Given the description of an element on the screen output the (x, y) to click on. 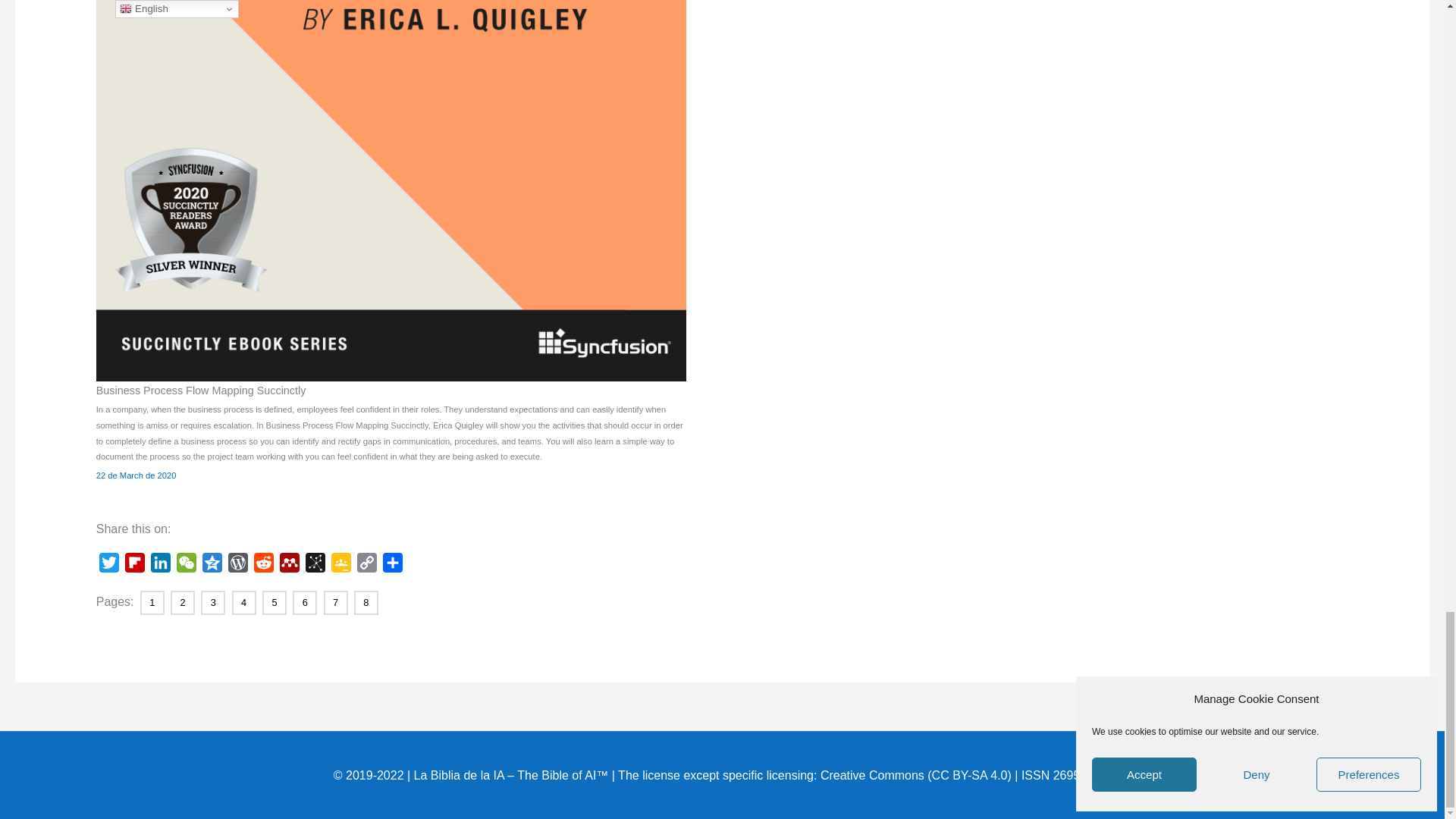
Flipboard (135, 565)
Mendeley (289, 565)
WordPress (237, 565)
Google Classroom (341, 565)
BibSonomy (315, 565)
Qzone (212, 565)
Twitter (109, 565)
LinkedIn (160, 565)
Reddit (263, 565)
WeChat (186, 565)
